Given the description of an element on the screen output the (x, y) to click on. 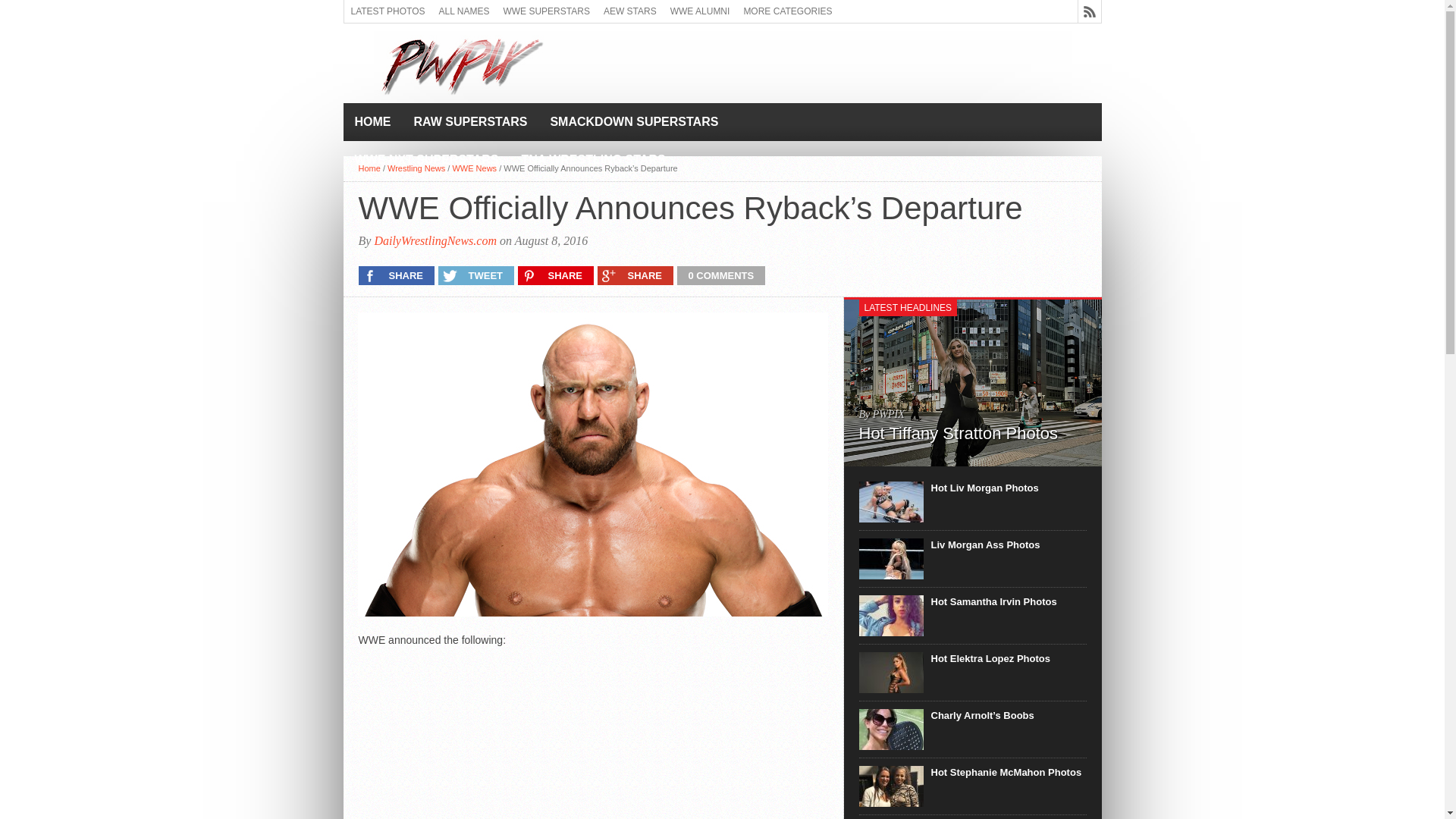
ALL NAMES (464, 11)
Photo Categories (787, 11)
SmackDown Superstars (633, 121)
WWE SUPERSTARS (545, 11)
HOME (371, 121)
Wrestling News (416, 167)
SMACKDOWN SUPERSTARS (633, 121)
TNA WRESTLING STARS (593, 159)
WWE Alumni Photos (699, 11)
Home (369, 167)
All Names (464, 11)
MORE CATEGORIES (787, 11)
LATEST PHOTOS (387, 11)
WWE News (473, 167)
Latest Photos (387, 11)
